Given the description of an element on the screen output the (x, y) to click on. 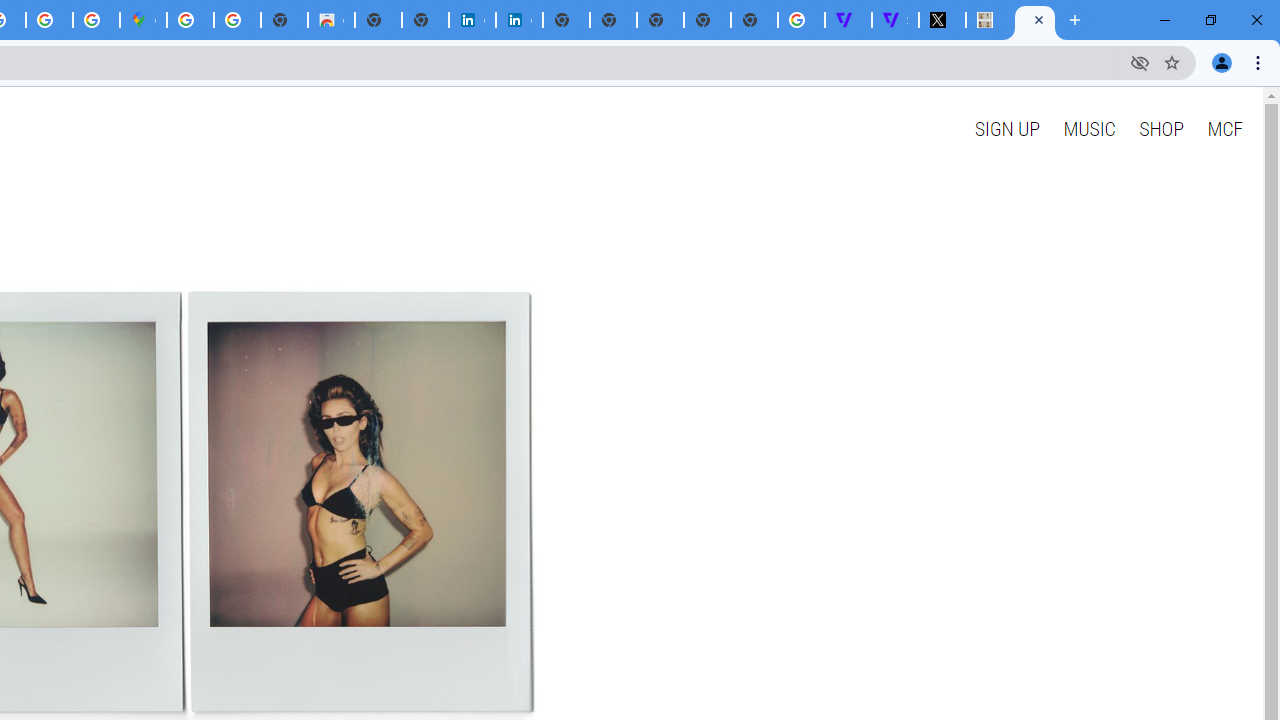
New Tab (754, 20)
Cookie Policy | LinkedIn (518, 20)
Google Maps (143, 20)
MILEY CYRUS. (1035, 20)
